Given the description of an element on the screen output the (x, y) to click on. 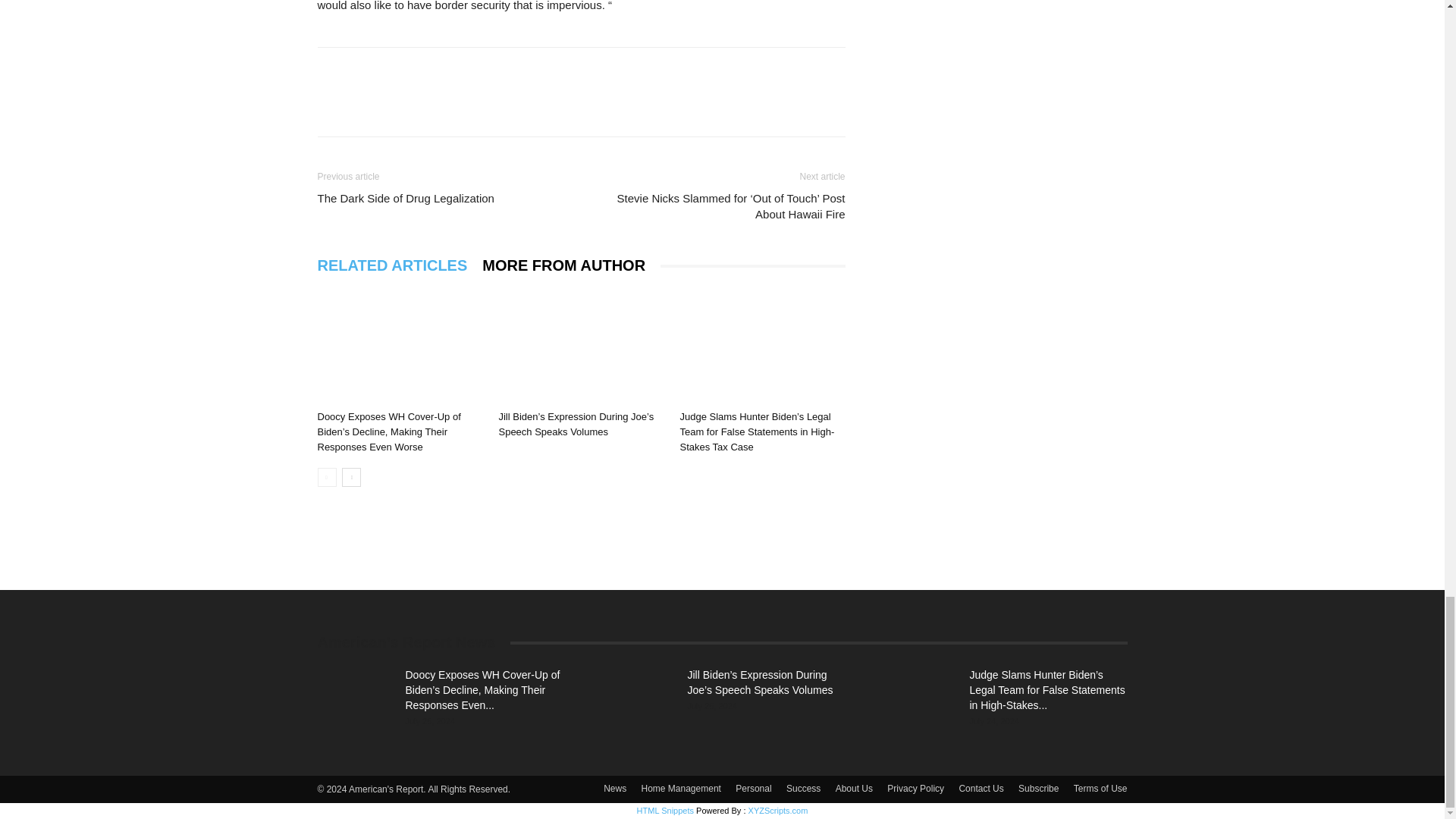
The Dark Side of Drug Legalization (405, 198)
